Given the description of an element on the screen output the (x, y) to click on. 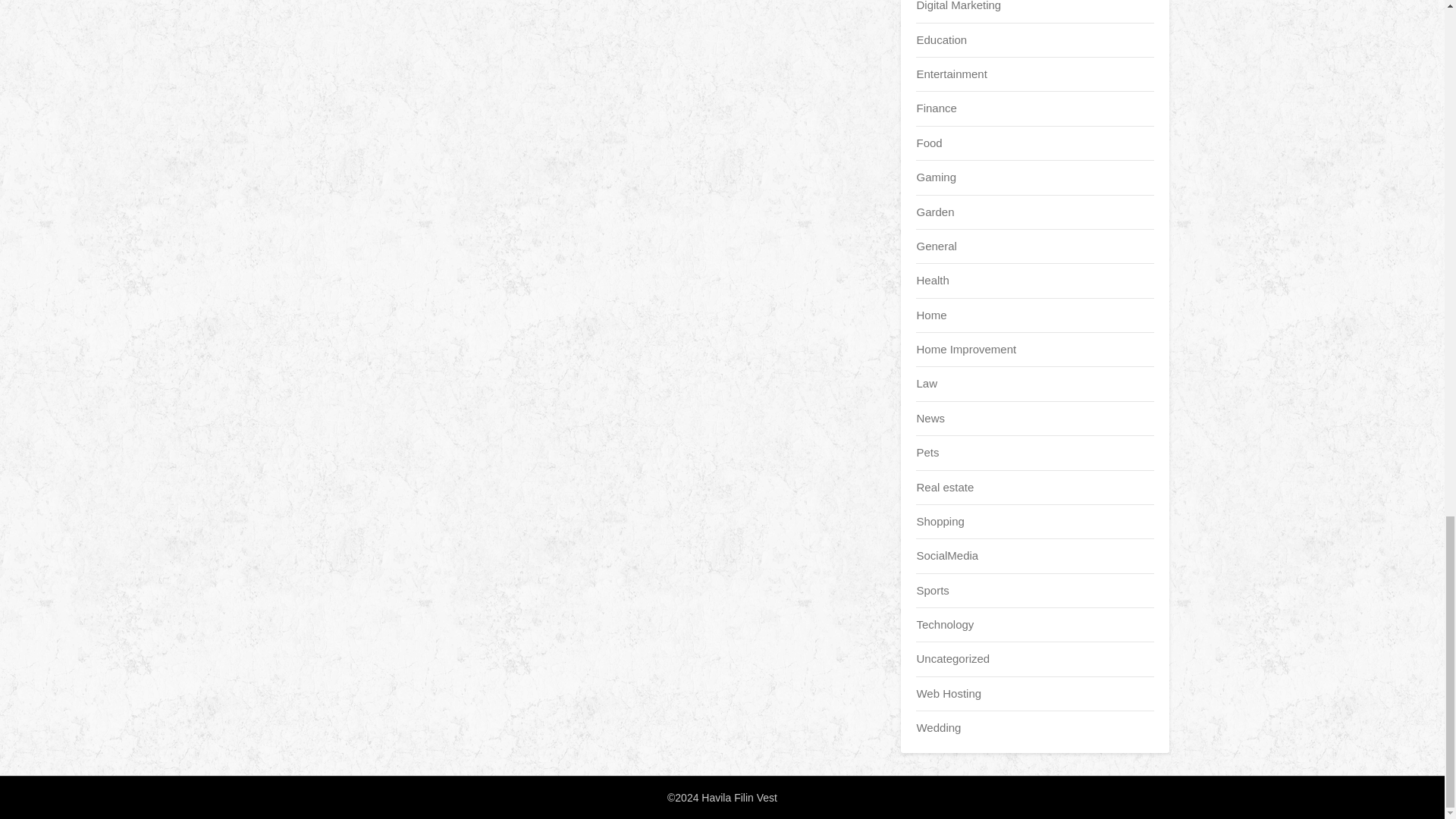
Garden (934, 211)
Real estate (944, 486)
Shopping (939, 521)
Gaming (935, 176)
Home Improvement (965, 349)
Sports (932, 590)
General (935, 245)
Food (928, 142)
Finance (935, 107)
News (929, 418)
